Given the description of an element on the screen output the (x, y) to click on. 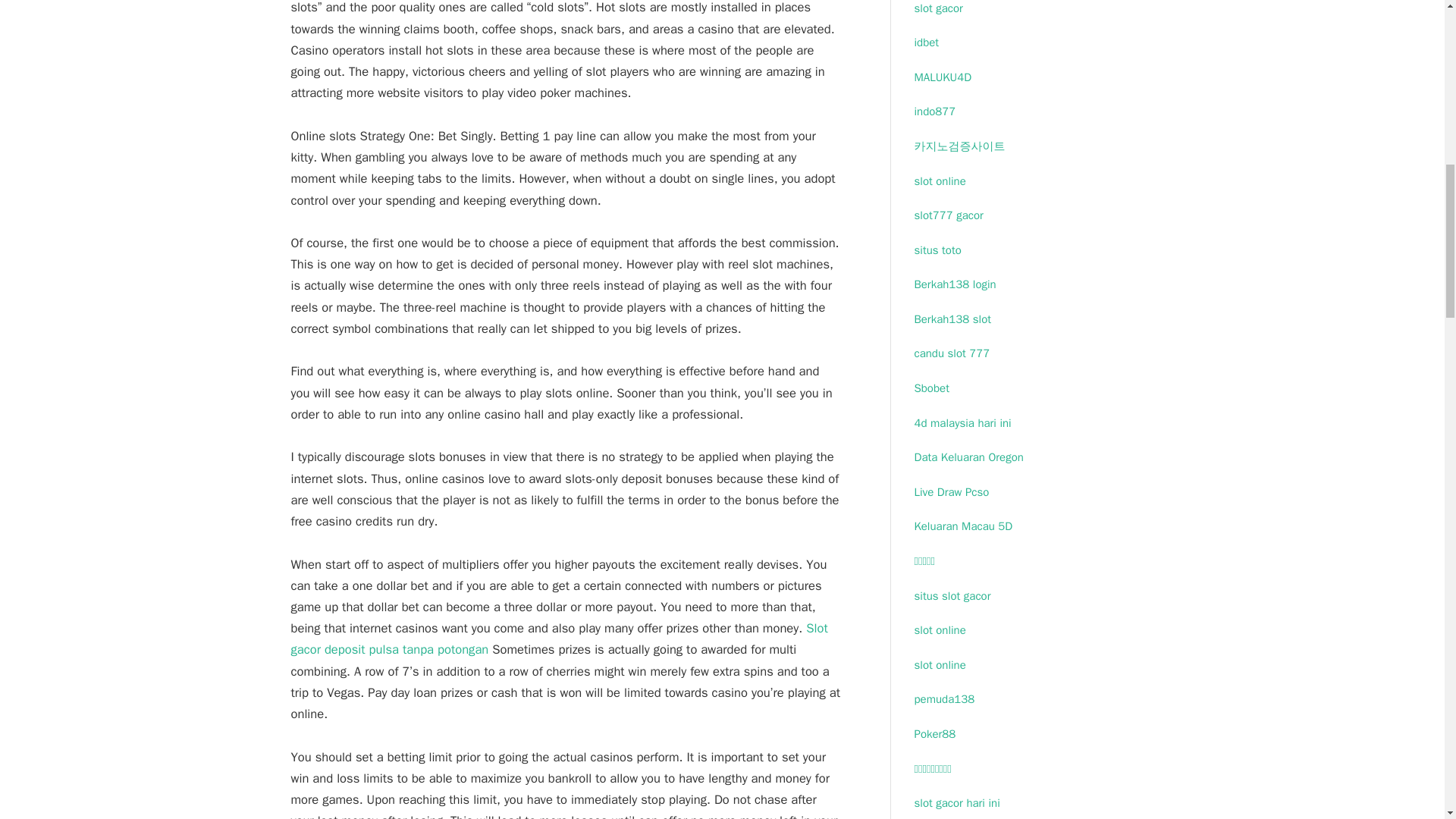
Slot gacor deposit pulsa tanpa potongan (559, 638)
